Given the description of an element on the screen output the (x, y) to click on. 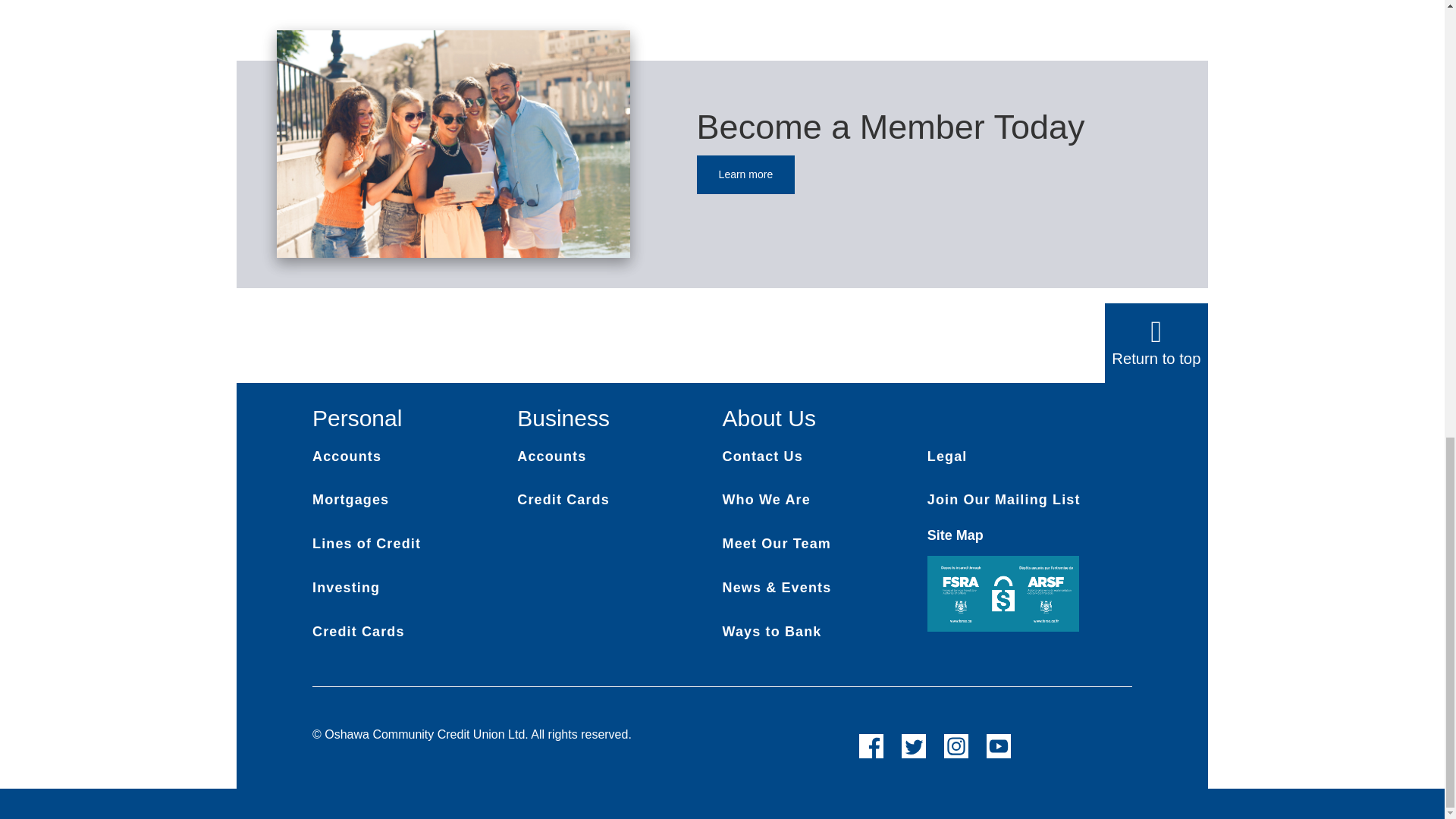
Investing (346, 587)
Becoming a Member (745, 174)
Contact Us (762, 456)
Return to top (721, 343)
Who We Are (765, 499)
Return to top (1155, 358)
Credit Cards (563, 499)
Return to top (1156, 343)
Credit Cards (358, 631)
Mortgages (350, 499)
